Given the description of an element on the screen output the (x, y) to click on. 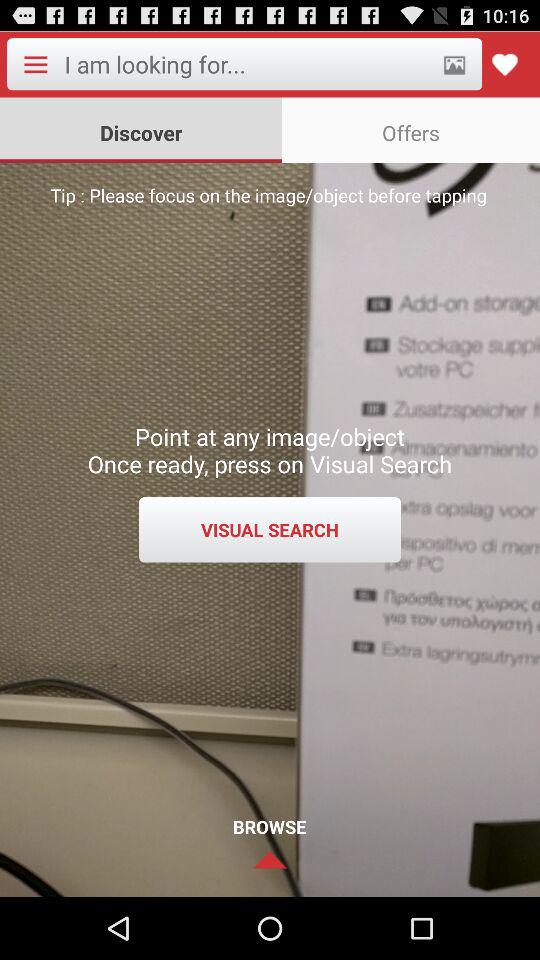
open menu (35, 64)
